Given the description of an element on the screen output the (x, y) to click on. 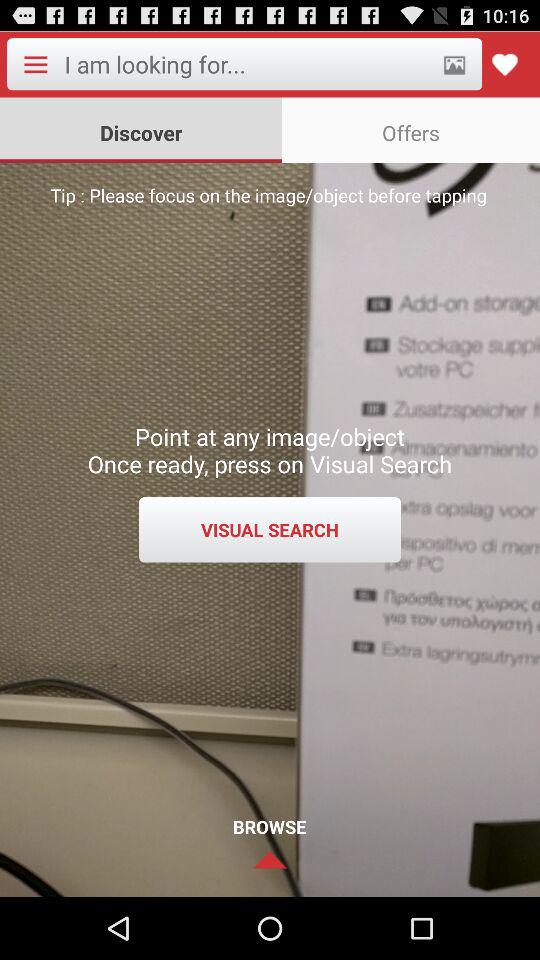
open menu (35, 64)
